Given the description of an element on the screen output the (x, y) to click on. 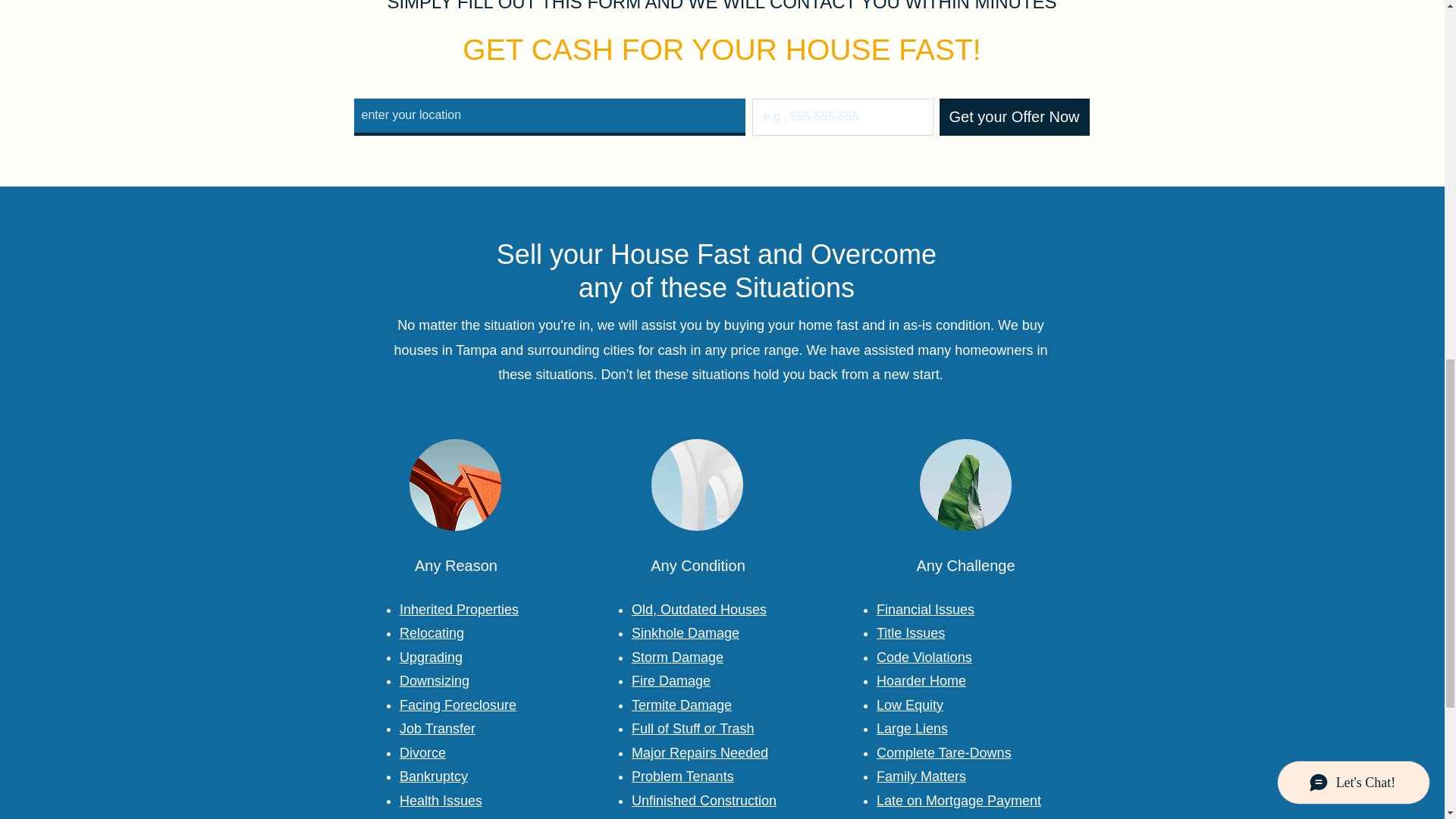
Get your Offer Now (1014, 116)
Fire Damage (670, 680)
Financial Issues (925, 609)
Hoarder Home (921, 680)
Low Equity (909, 704)
Code Violations (924, 657)
Storm Damage (677, 657)
Complete Tare-Downs (943, 752)
Full of Stuff or Trash (692, 728)
Unfinished Construction (703, 800)
